Given the description of an element on the screen output the (x, y) to click on. 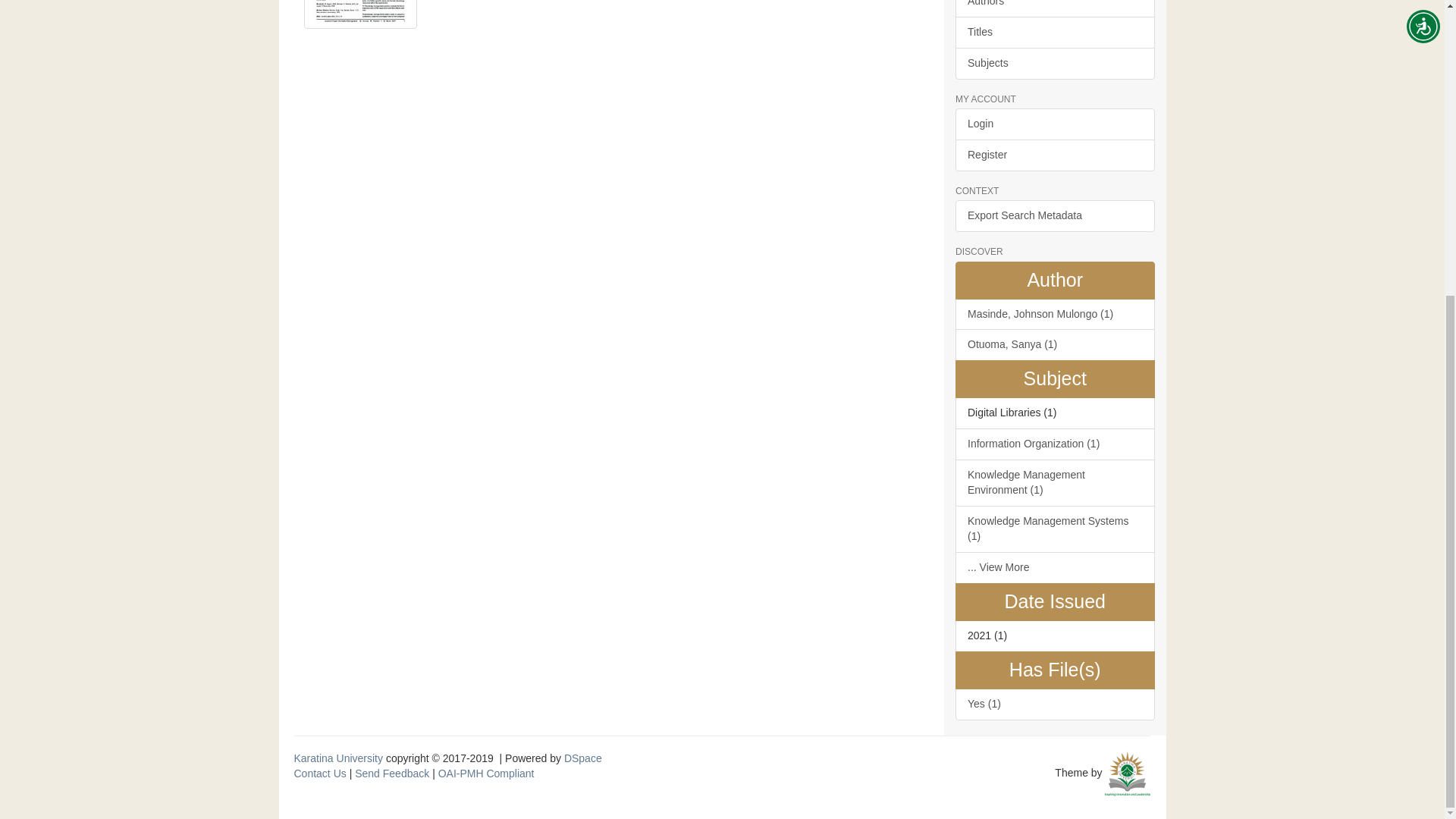
Systems Librarian (1127, 772)
